Given the description of an element on the screen output the (x, y) to click on. 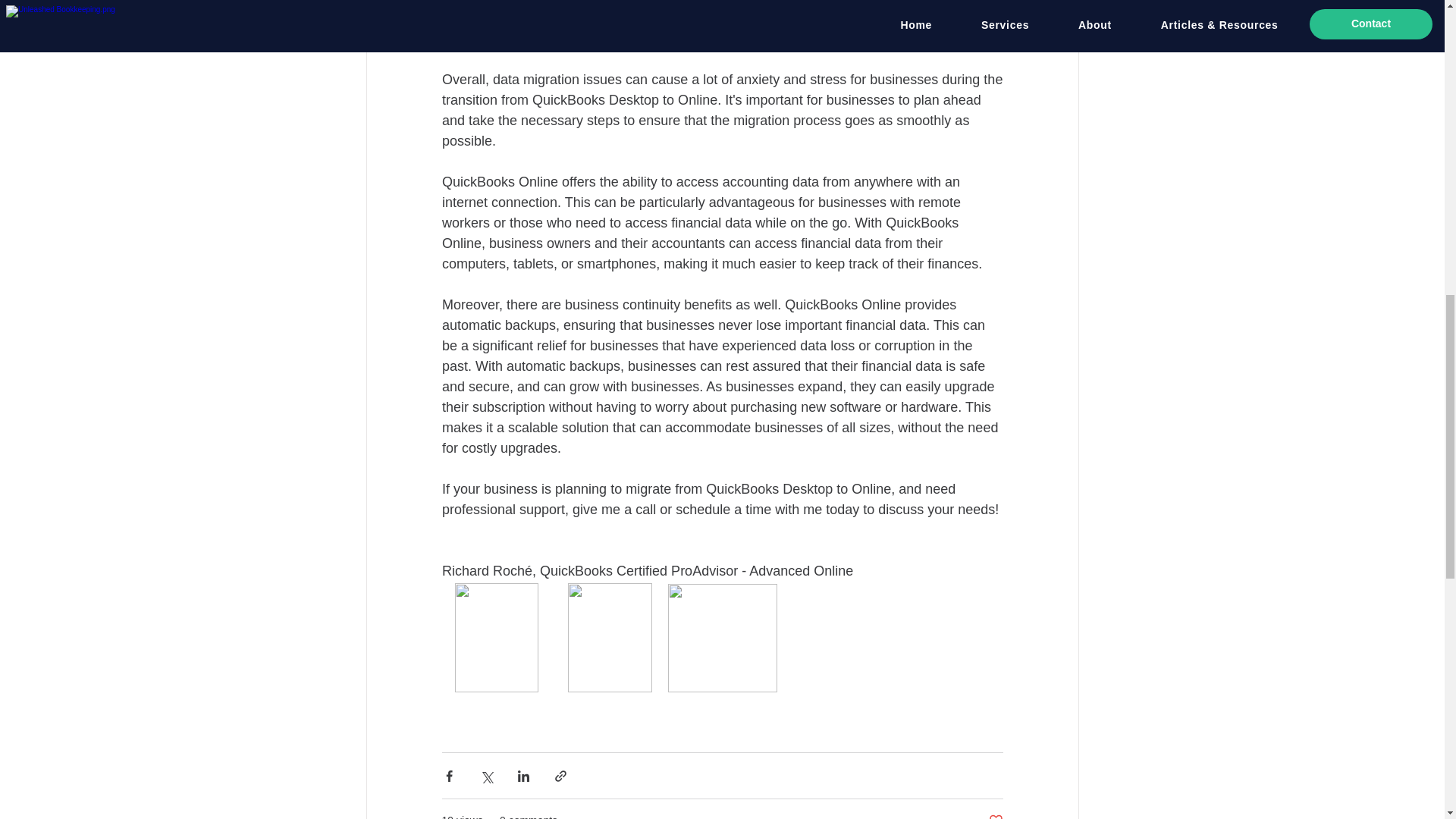
Post not marked as liked (995, 816)
